Given the description of an element on the screen output the (x, y) to click on. 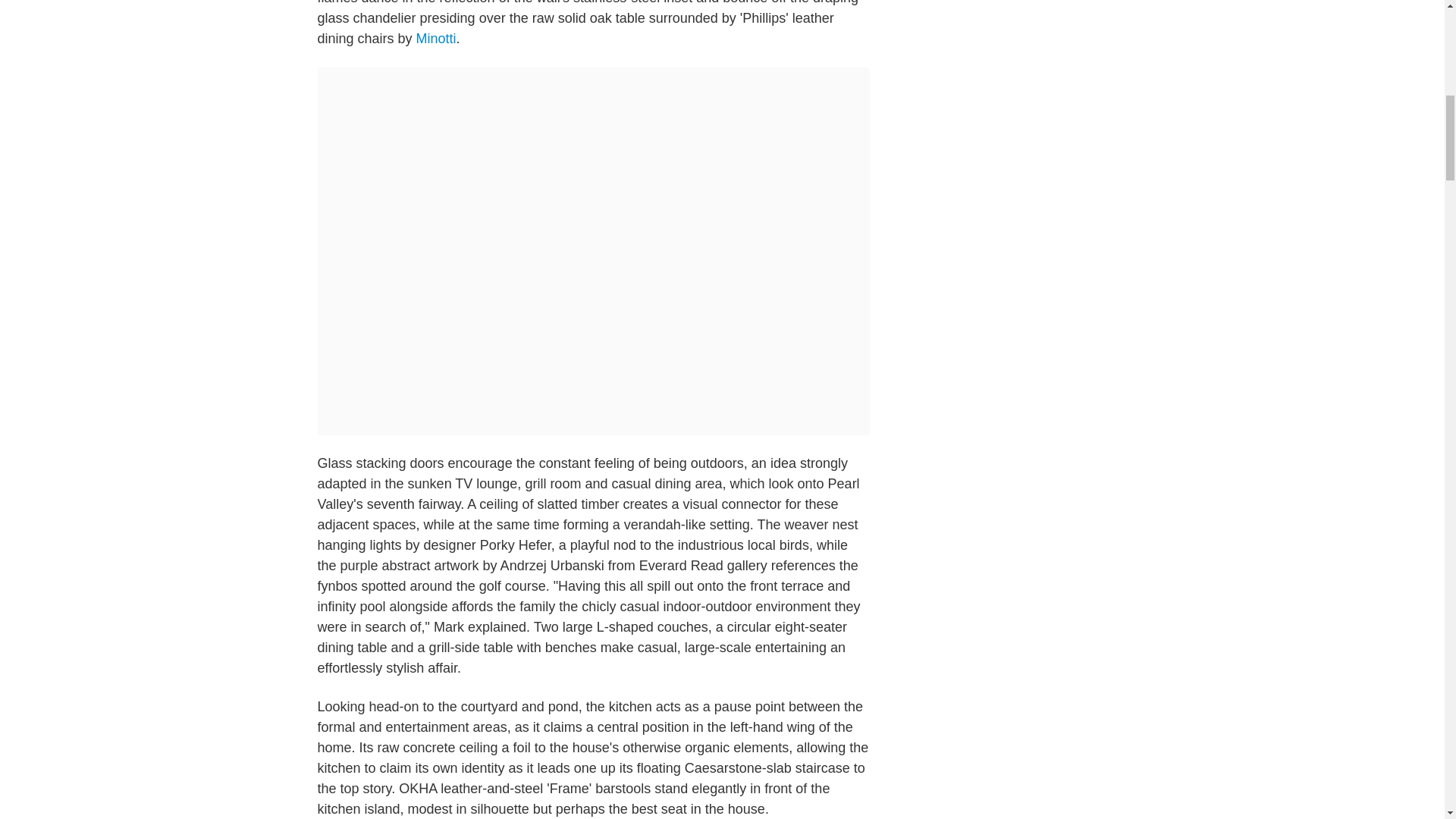
Minotti (436, 38)
